Given the description of an element on the screen output the (x, y) to click on. 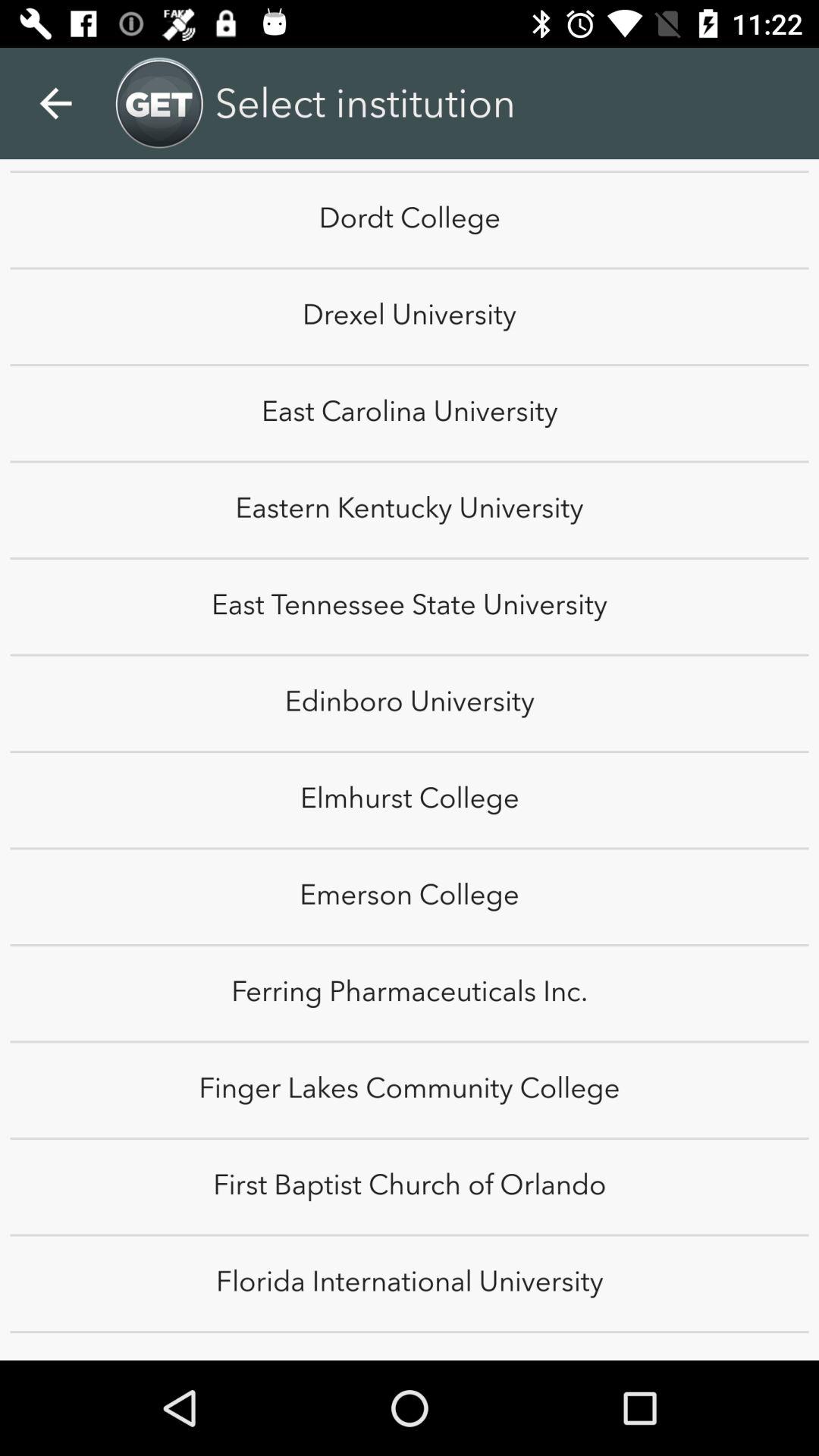
turn off icon next to the select institution item (779, 87)
